Given the description of an element on the screen output the (x, y) to click on. 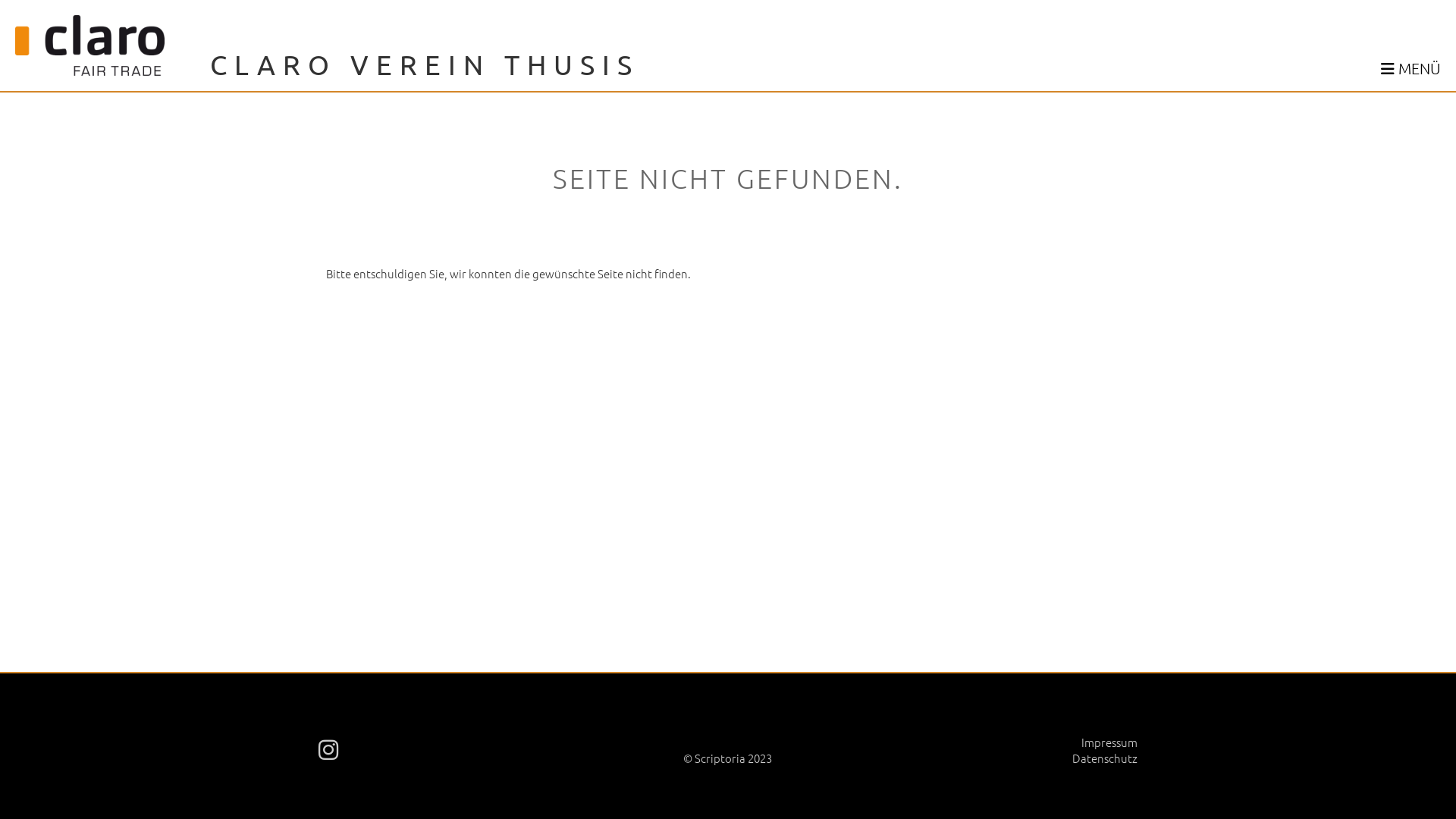
Impressum Element type: text (1109, 741)
CLARO VEREIN THUSIS Element type: text (424, 64)
Datenschutz Element type: text (1104, 757)
